Given the description of an element on the screen output the (x, y) to click on. 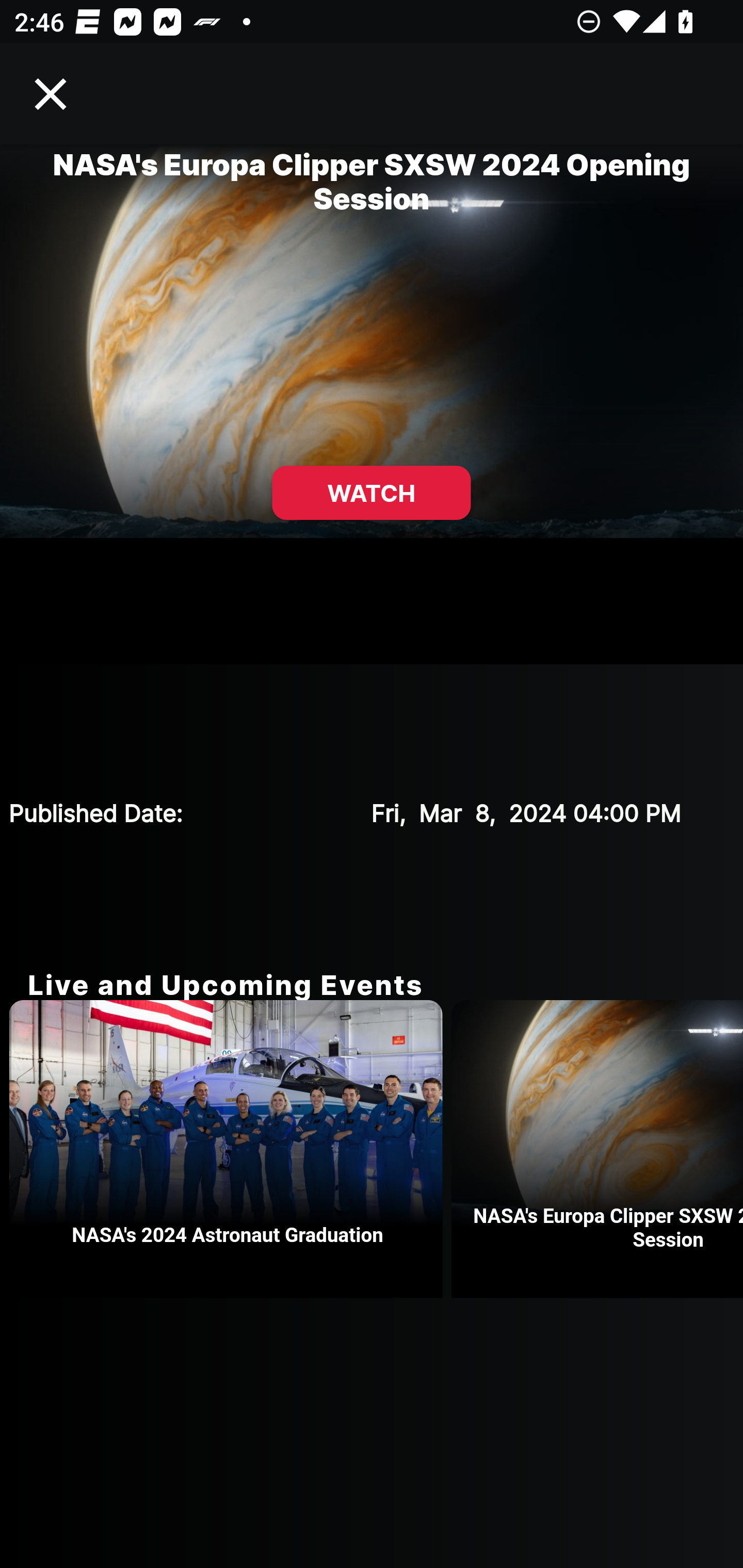
WATCH (371, 492)
NASA's 2024 Astronaut Graduation (229, 1149)
NASA's Europa Clipper SXSW 2024 Opening Session (597, 1149)
